Given the description of an element on the screen output the (x, y) to click on. 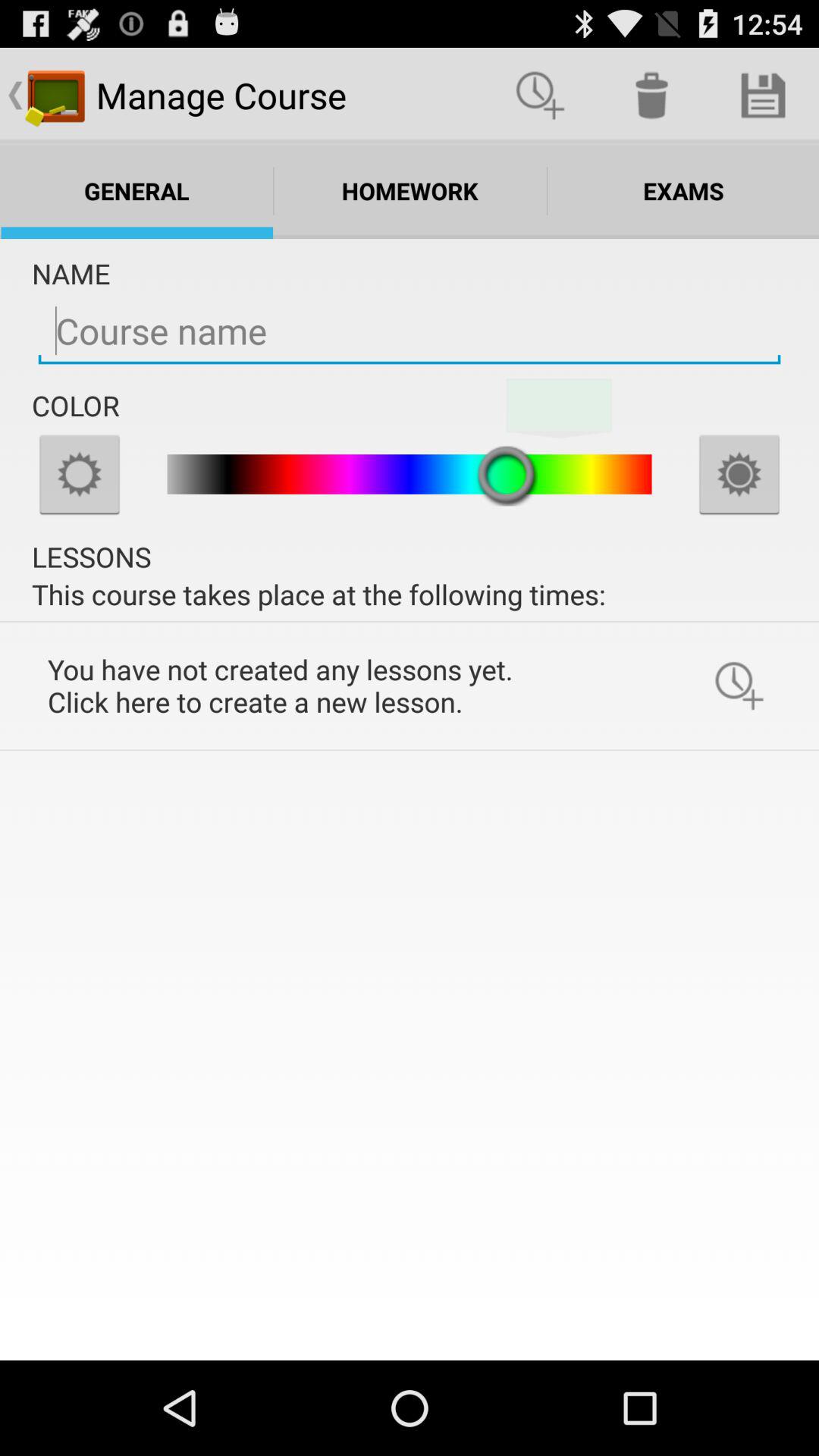
select the second symbol from left (651, 95)
